Given the description of an element on the screen output the (x, y) to click on. 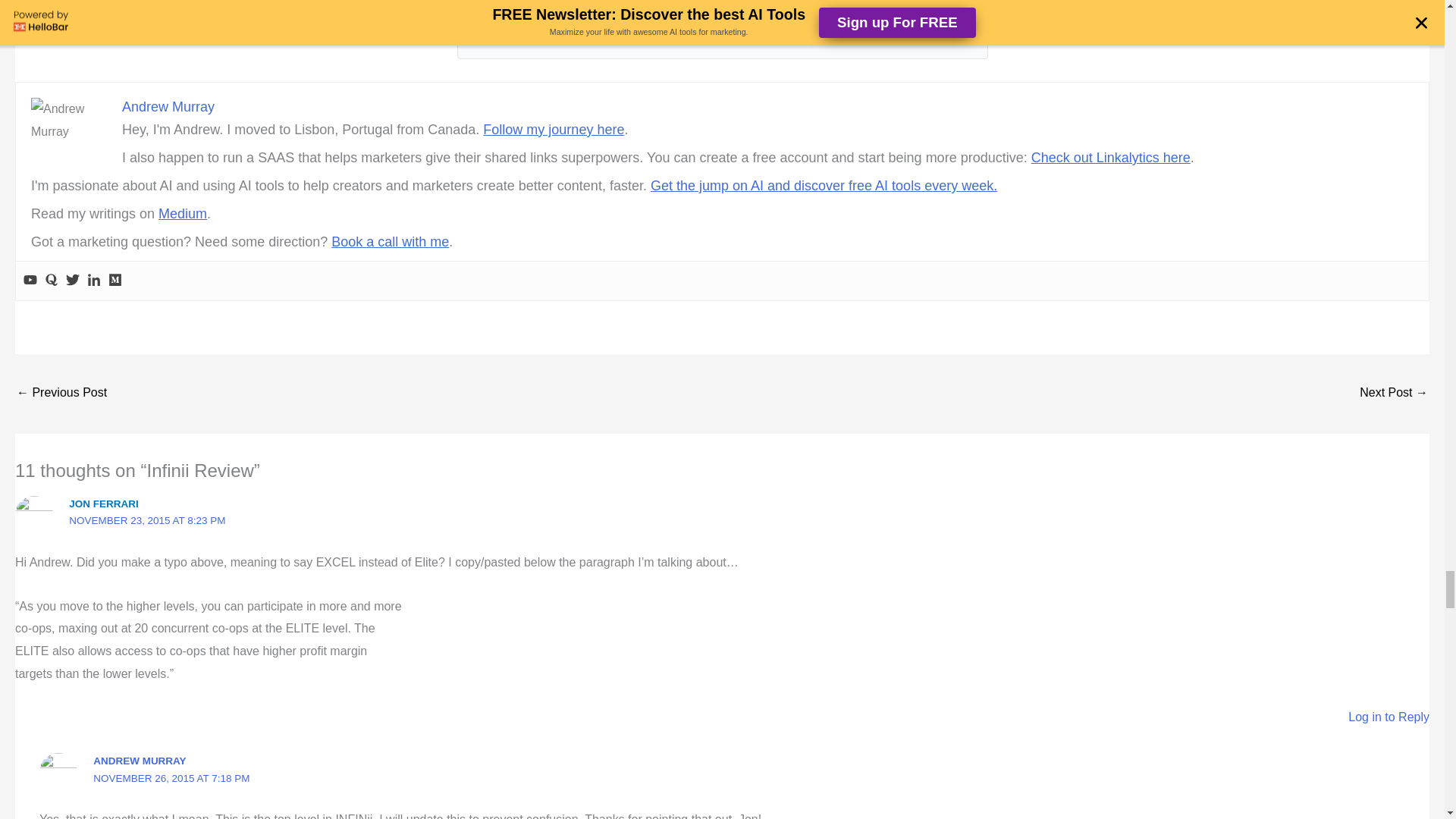
Lending Loop Review: Peer-To-Peer Investing (1393, 393)
September 2015 Recap (61, 393)
